Given the description of an element on the screen output the (x, y) to click on. 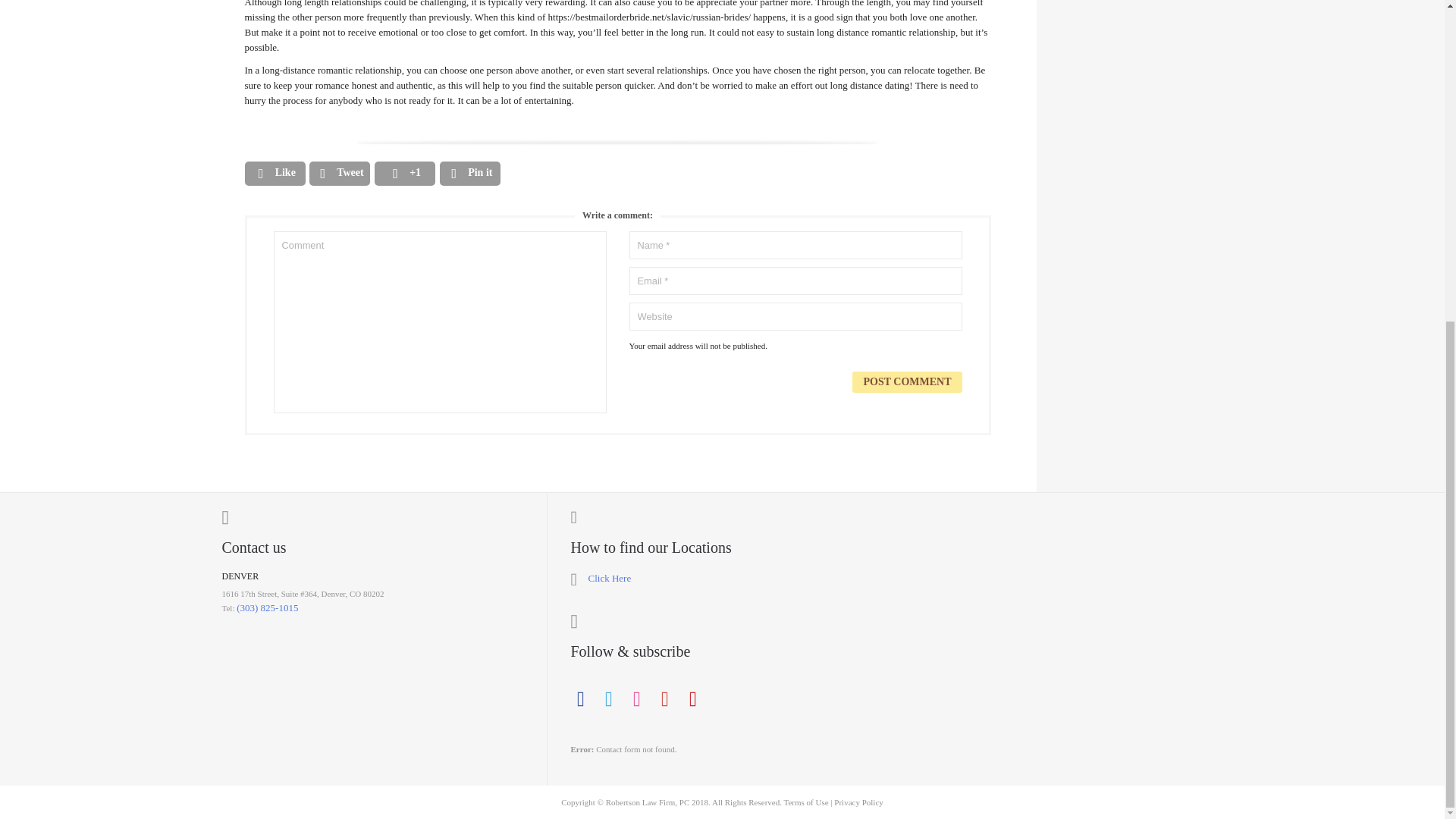
Share on Google Plus (404, 172)
Share on Twitter (338, 172)
Share on Facebook (274, 172)
Post Comment (905, 382)
Share on Pinterest (469, 172)
Post Comment (905, 382)
